Given the description of an element on the screen output the (x, y) to click on. 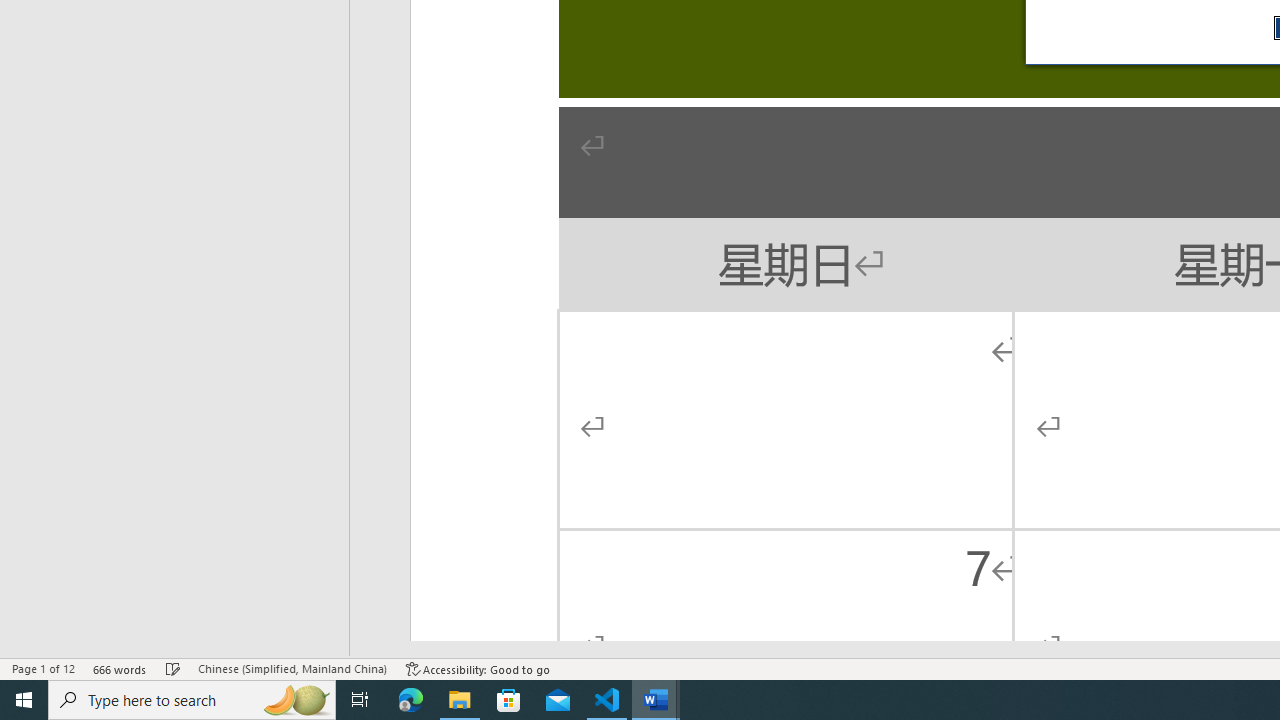
Word Count 666 words (119, 668)
Page Number Page 1 of 12 (43, 668)
Accessibility Checker Accessibility: Good to go (478, 668)
Task View (359, 699)
Word - 2 running windows (656, 699)
Type here to search (191, 699)
Spelling and Grammar Check Checking (173, 668)
Start (24, 699)
Language Chinese (Simplified, Mainland China) (292, 668)
Microsoft Store (509, 699)
Microsoft Edge (411, 699)
File Explorer - 1 running window (460, 699)
Visual Studio Code - 1 running window (607, 699)
Search highlights icon opens search home window (295, 699)
